Given the description of an element on the screen output the (x, y) to click on. 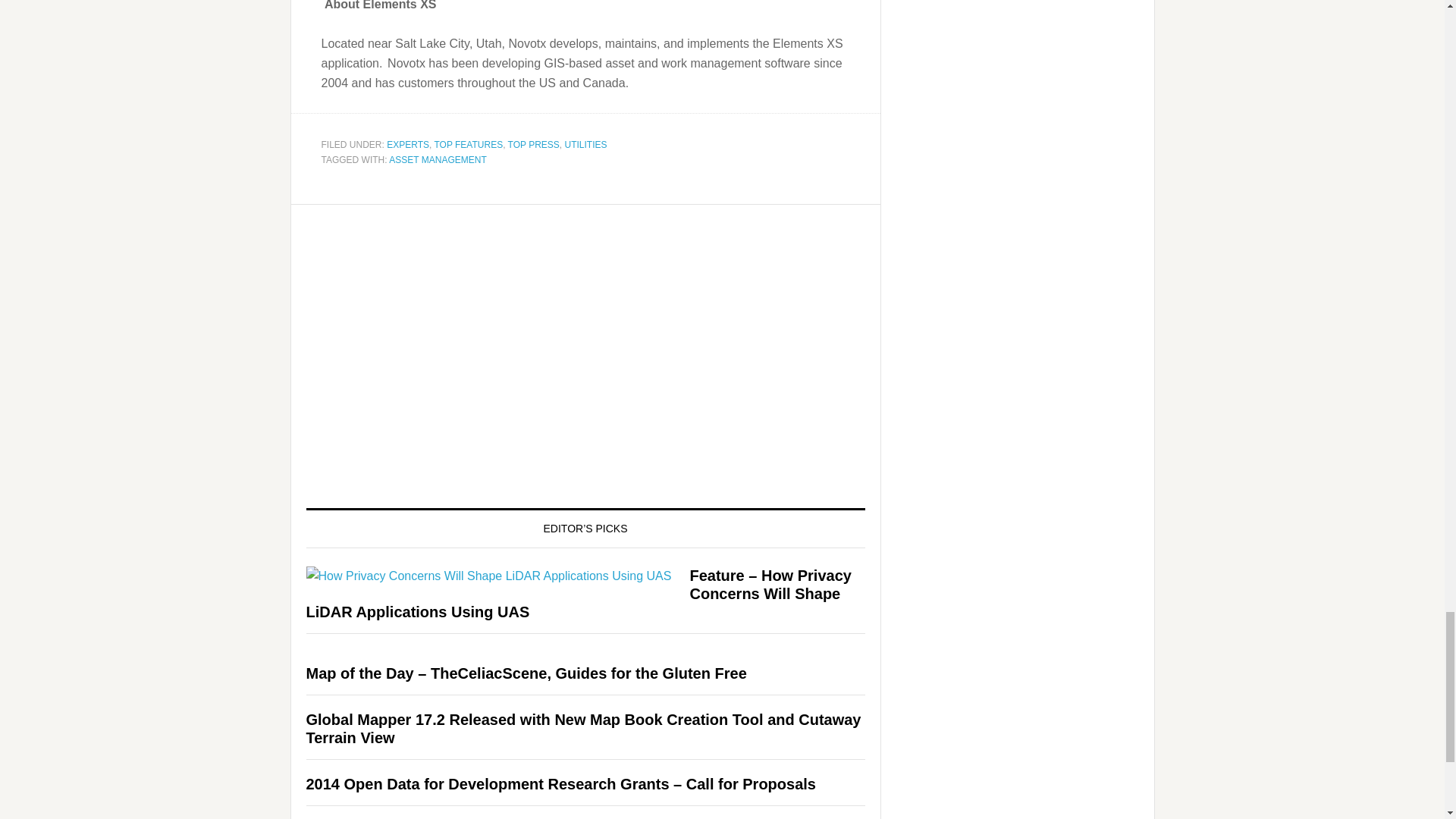
ASSET MANAGEMENT (437, 159)
TOP FEATURES (467, 144)
EXPERTS (408, 144)
UTILITIES (585, 144)
TOP PRESS (533, 144)
